Given the description of an element on the screen output the (x, y) to click on. 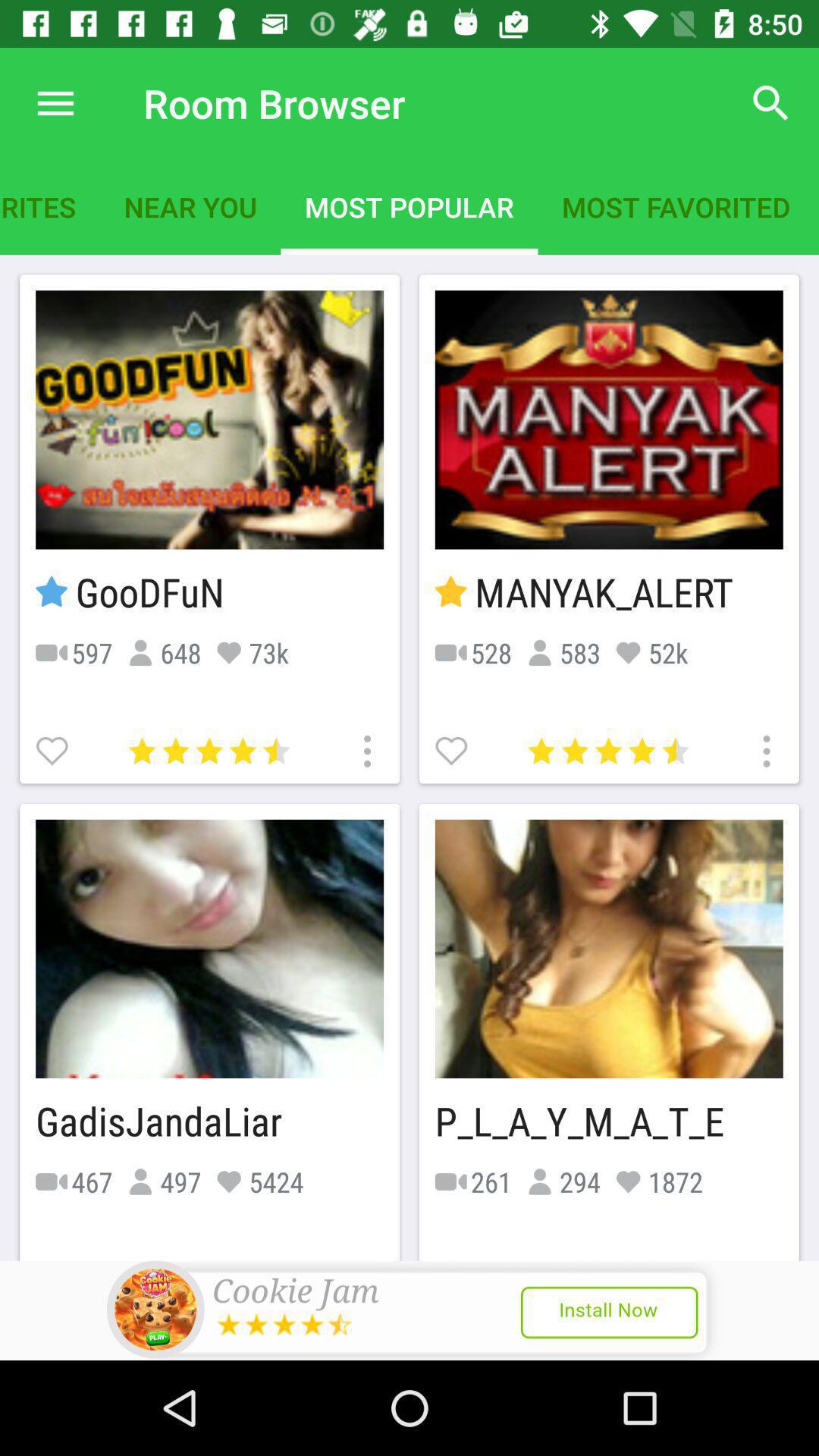
likes room (453, 749)
